Given the description of an element on the screen output the (x, y) to click on. 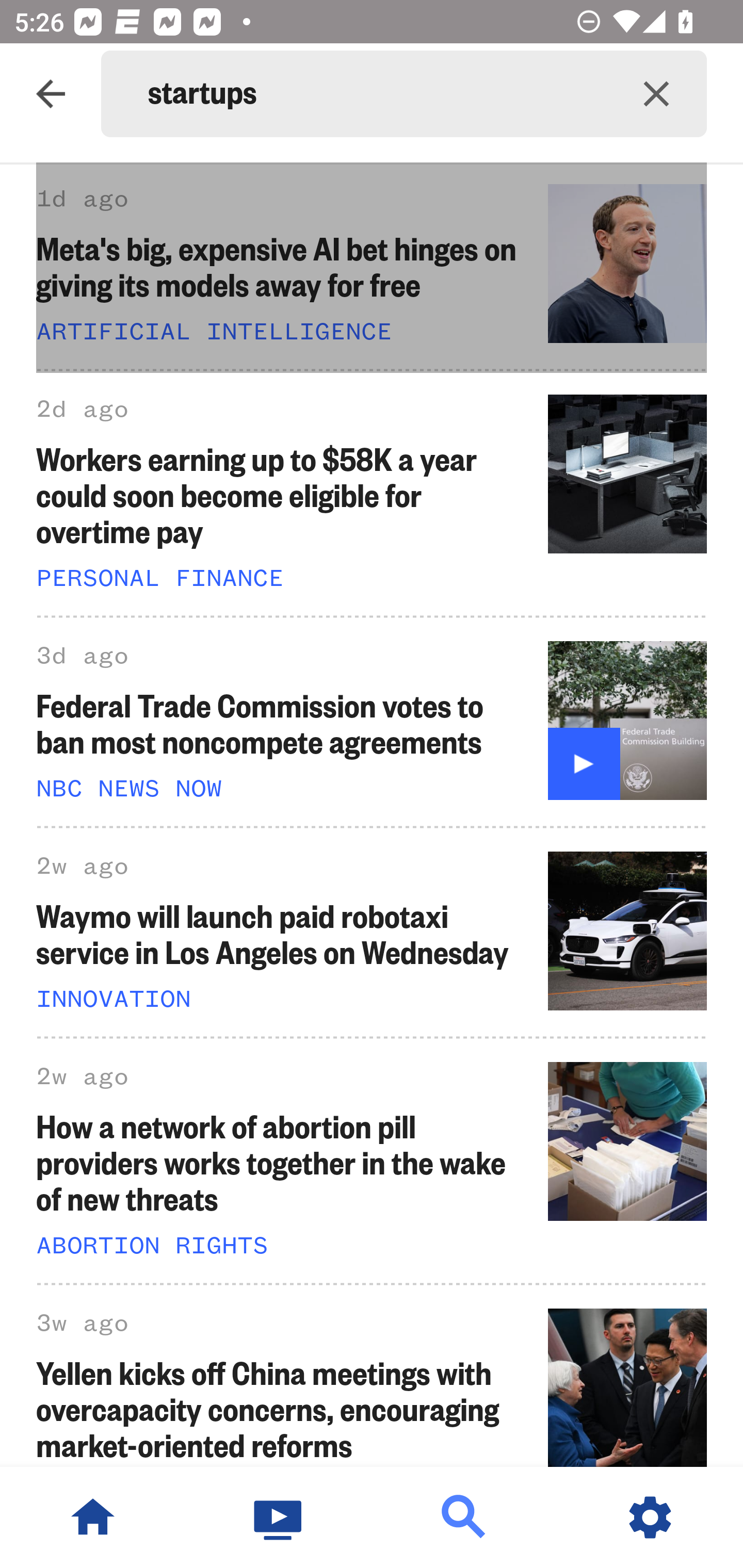
Navigate up (50, 93)
Clear query (656, 93)
startups (376, 94)
NBC News Home (92, 1517)
Watch (278, 1517)
Settings (650, 1517)
